Given the description of an element on the screen output the (x, y) to click on. 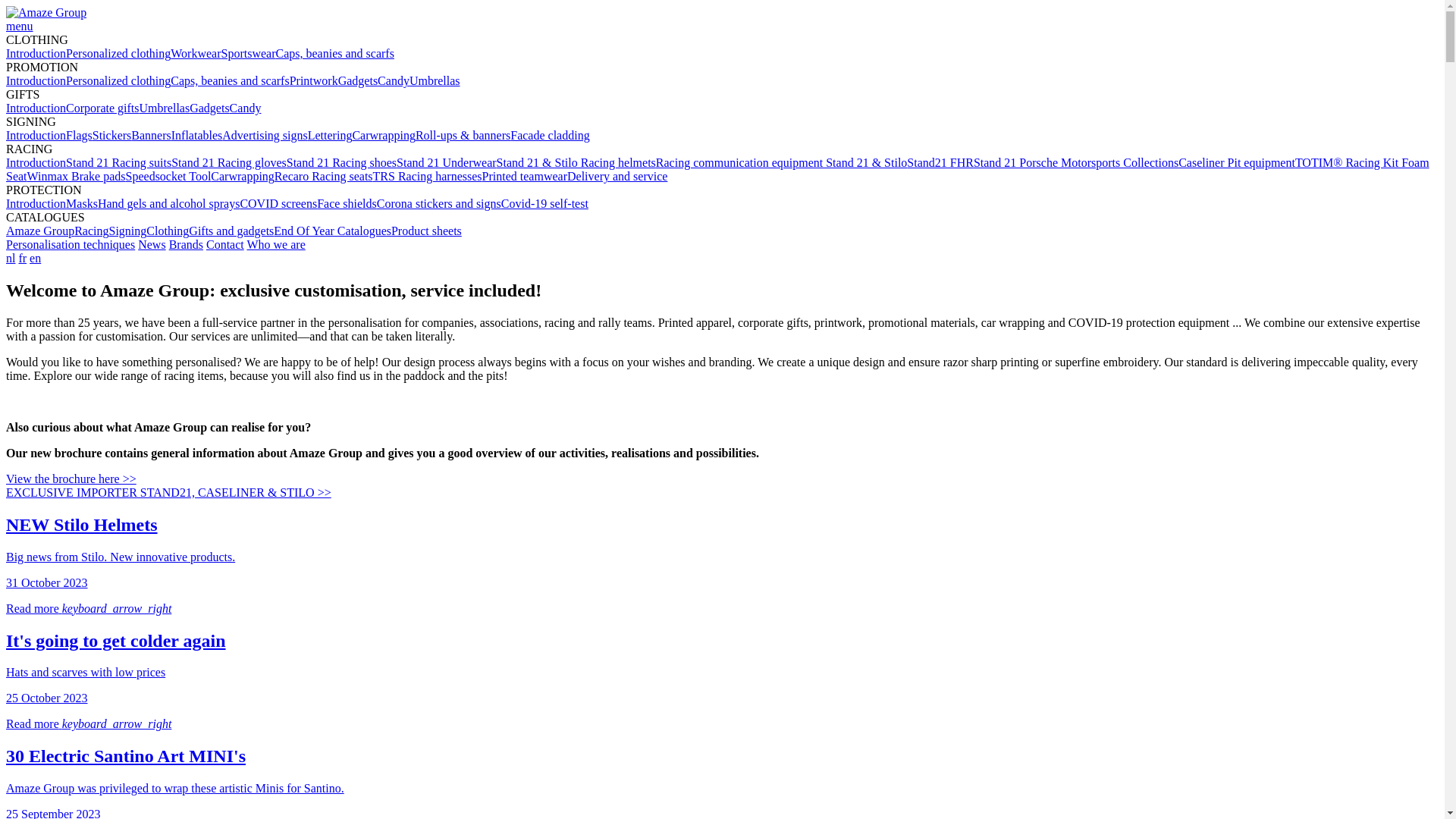
Personalized clothing Element type: text (117, 53)
Carwrapping Element type: text (242, 175)
Clothing Element type: text (167, 230)
Stand 21 Underwear Element type: text (446, 162)
nl Element type: text (10, 257)
Introduction Element type: text (35, 107)
Hand gels and alcohol sprays Element type: text (168, 203)
Printwork Element type: text (313, 80)
Delivery and service Element type: text (617, 175)
Introduction Element type: text (35, 203)
Candy Element type: text (393, 80)
Racing communication equipment Stand 21 & Stilo Element type: text (781, 162)
Face shields Element type: text (346, 203)
Gifts and gadgets Element type: text (230, 230)
View the brochure here >> Element type: text (71, 478)
EXCLUSIVE IMPORTER STAND21, CASELINER & STILO >> Element type: text (168, 492)
Umbrellas Element type: text (164, 107)
Personalized clothing Element type: text (117, 80)
Umbrellas Element type: text (434, 80)
fr Element type: text (22, 257)
Gadgets Element type: text (209, 107)
Stand 21 Racing suits Element type: text (118, 162)
Who we are Element type: text (275, 244)
Brands Element type: text (186, 244)
Product sheets Element type: text (426, 230)
Contact Element type: text (225, 244)
Gadgets Element type: text (357, 80)
Introduction Element type: text (35, 80)
Advertising signs Element type: text (264, 134)
Stand 21 Porsche Motorsports Collections Element type: text (1075, 162)
Amaze Group Element type: text (40, 230)
menu Element type: text (19, 25)
Stand 21 Racing gloves Element type: text (228, 162)
Inflatables Element type: text (196, 134)
Introduction Element type: text (35, 53)
Caseliner Pit equipment Element type: text (1236, 162)
Corona stickers and signs Element type: text (438, 203)
Carwrapping Element type: text (383, 134)
News Element type: text (151, 244)
Introduction Element type: text (35, 162)
en Element type: text (34, 257)
Stand 21 Racing shoes Element type: text (341, 162)
COVID screens Element type: text (277, 203)
Stickers Element type: text (111, 134)
Caps, beanies and scarfs Element type: text (229, 80)
Banners Element type: text (150, 134)
Stand 21 & Stilo Racing helmets Element type: text (575, 162)
End Of Year Catalogues Element type: text (332, 230)
Racing Element type: text (91, 230)
Recaro Racing seats Element type: text (323, 175)
Personalisation techniques Element type: text (70, 244)
Corporate gifts Element type: text (101, 107)
Stand21 FHR Element type: text (939, 162)
Masks Element type: text (81, 203)
TRS Racing harnesses Element type: text (427, 175)
Facade cladding Element type: text (549, 134)
Caps, beanies and scarfs Element type: text (335, 53)
Covid-19 self-test Element type: text (544, 203)
Printed teamwear Element type: text (524, 175)
Signing Element type: text (128, 230)
Candy Element type: text (245, 107)
Amaze Group Element type: hover (46, 12)
Winmax Brake pads Element type: text (76, 175)
Sportswear Element type: text (248, 53)
Roll-ups & banners Element type: text (462, 134)
Introduction Element type: text (35, 134)
Workwear Element type: text (195, 53)
Flags Element type: text (78, 134)
Lettering Element type: text (329, 134)
Speedsocket Tool Element type: text (168, 175)
